Given the description of an element on the screen output the (x, y) to click on. 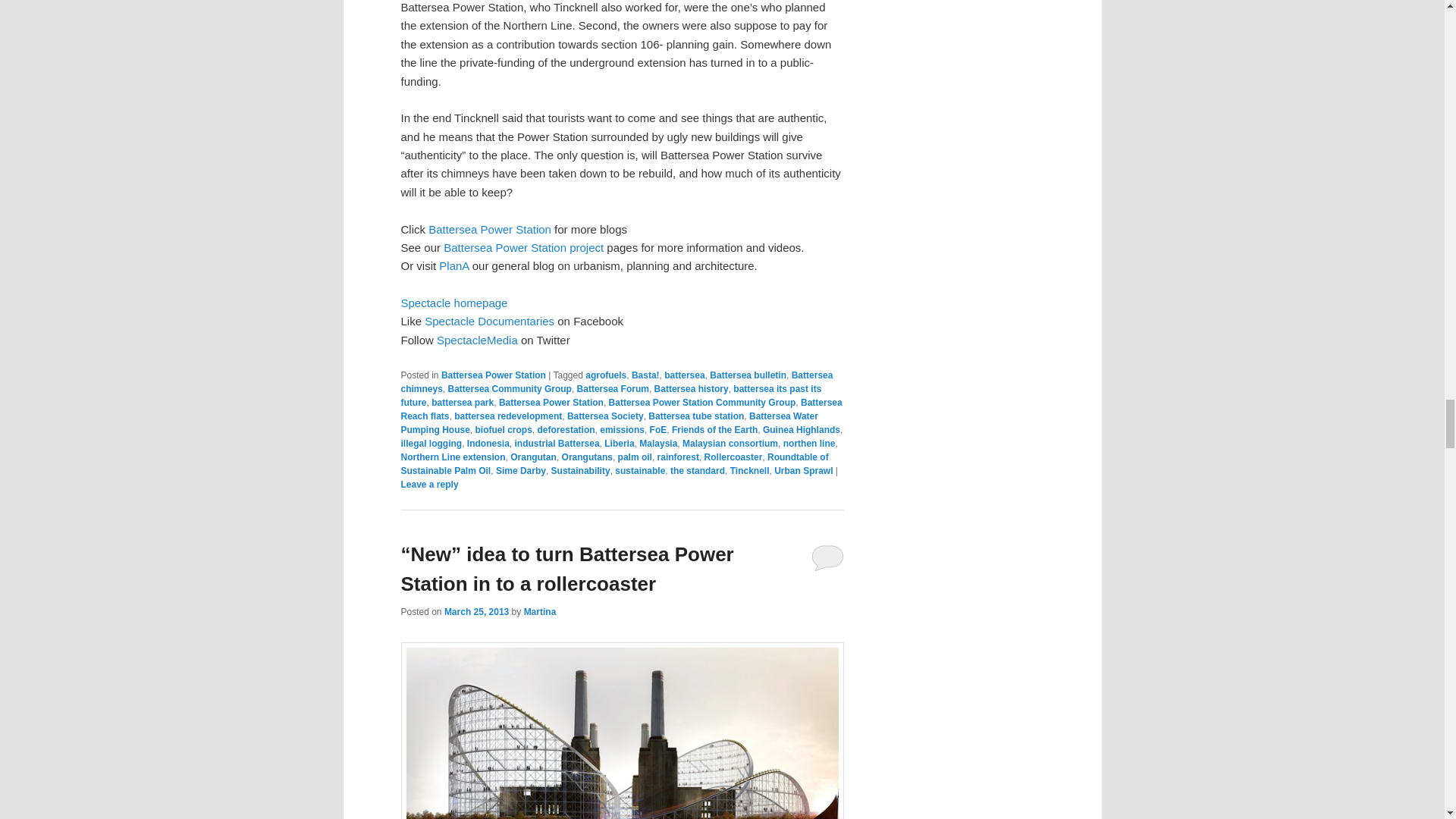
Picture 4 (621, 730)
1:50 pm (476, 611)
View all posts by Martina (540, 611)
